Given the description of an element on the screen output the (x, y) to click on. 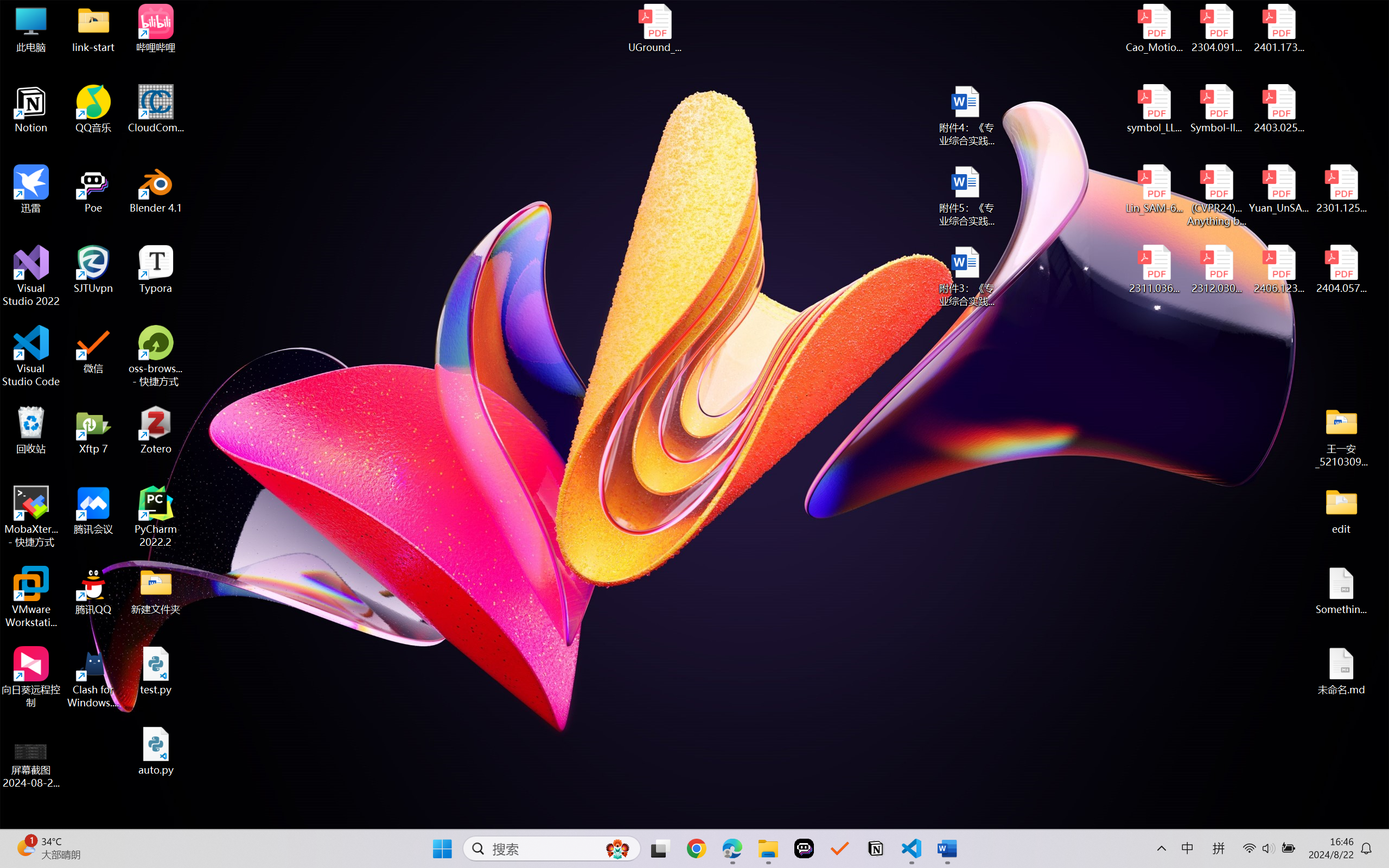
symbol_LLM.pdf (1154, 109)
test.py (156, 670)
Symbol-llm-v2.pdf (1216, 109)
Visual Studio Code (31, 355)
2403.02502v1.pdf (1278, 109)
2406.12373v2.pdf (1278, 269)
